Given the description of an element on the screen output the (x, y) to click on. 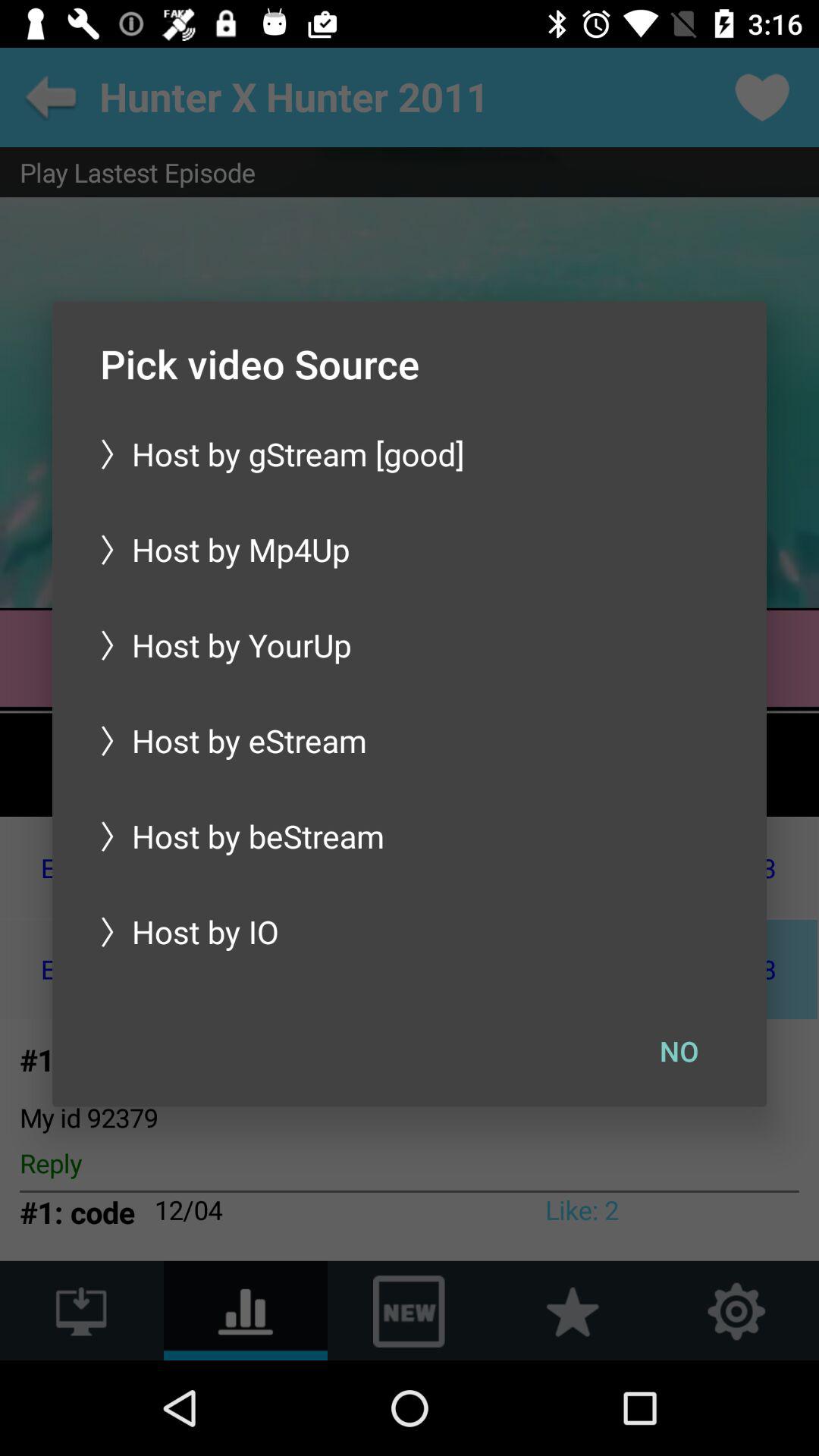
flip until the no item (678, 1050)
